Given the description of an element on the screen output the (x, y) to click on. 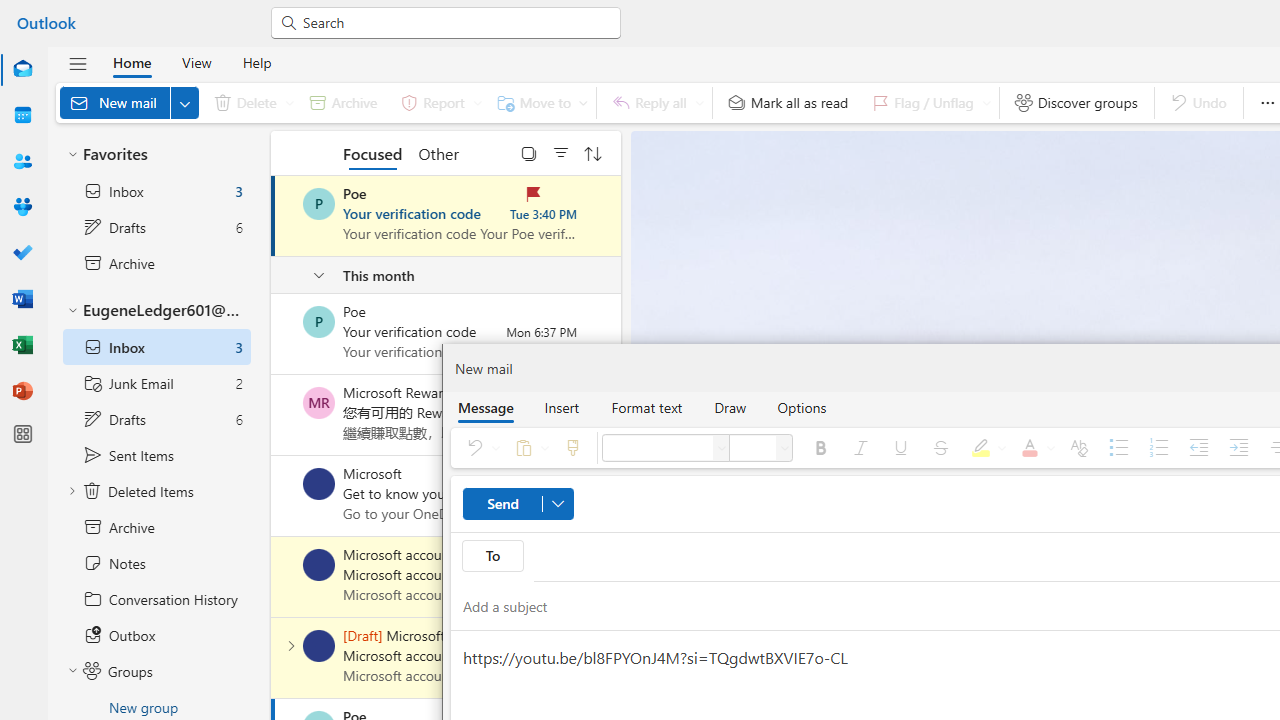
To (492, 555)
Text highlight color (985, 447)
Mark as unread (273, 657)
PowerPoint (22, 390)
Reply all (654, 102)
Groups (22, 206)
Font (657, 448)
Bold (820, 447)
Move to (538, 102)
Flag / Unflag (927, 102)
Clear formatting (1078, 447)
Numbering (1158, 447)
Mark all as read (788, 102)
Mail (22, 69)
Mail (22, 69)
